Given the description of an element on the screen output the (x, y) to click on. 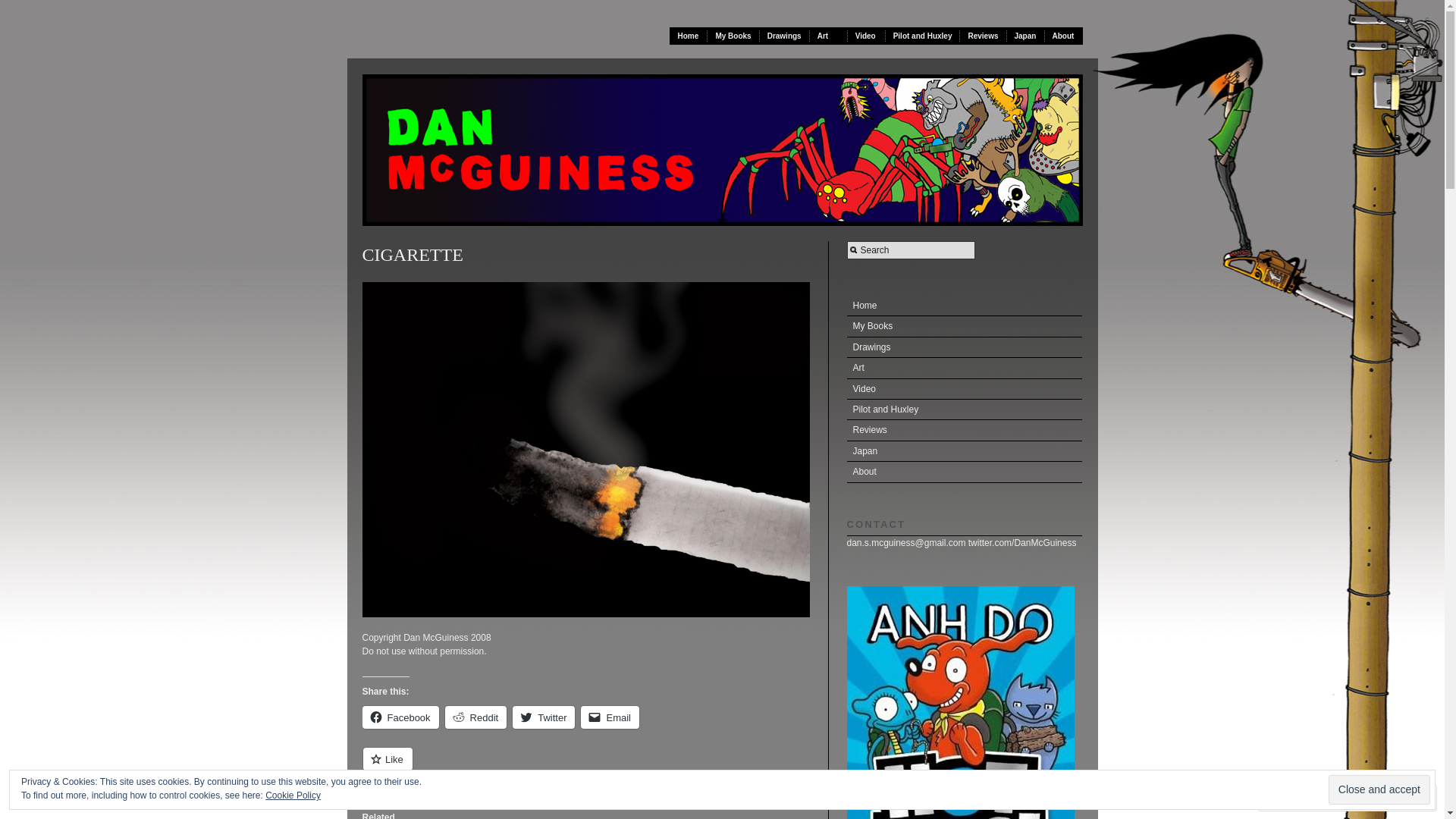
About Element type: text (1063, 35)
Like or Reblog Element type: hover (585, 767)
Video Element type: text (963, 389)
Home Element type: text (688, 35)
Cookie Policy Element type: text (292, 795)
Pilot and Huxley Element type: text (963, 409)
My Books Element type: text (733, 35)
Japan Element type: text (1025, 35)
Drawings Element type: text (784, 35)
My Books Element type: text (963, 326)
Reviews Element type: text (983, 35)
Twitter Element type: text (543, 717)
Close and accept Element type: text (1379, 789)
Home Element type: text (963, 305)
Pilot and Huxley Element type: text (922, 35)
Art Element type: text (828, 35)
Comment Element type: text (1299, 797)
Drawings Element type: text (963, 347)
Facebook Element type: text (400, 717)
Email Element type: text (609, 717)
Japan Element type: text (963, 451)
Follow Element type: text (1374, 797)
Reviews Element type: text (963, 430)
About Element type: text (963, 471)
CIGARETTE Element type: hover (585, 449)
Video Element type: text (866, 35)
Art Element type: text (963, 367)
Reddit Element type: text (476, 717)
